Given the description of an element on the screen output the (x, y) to click on. 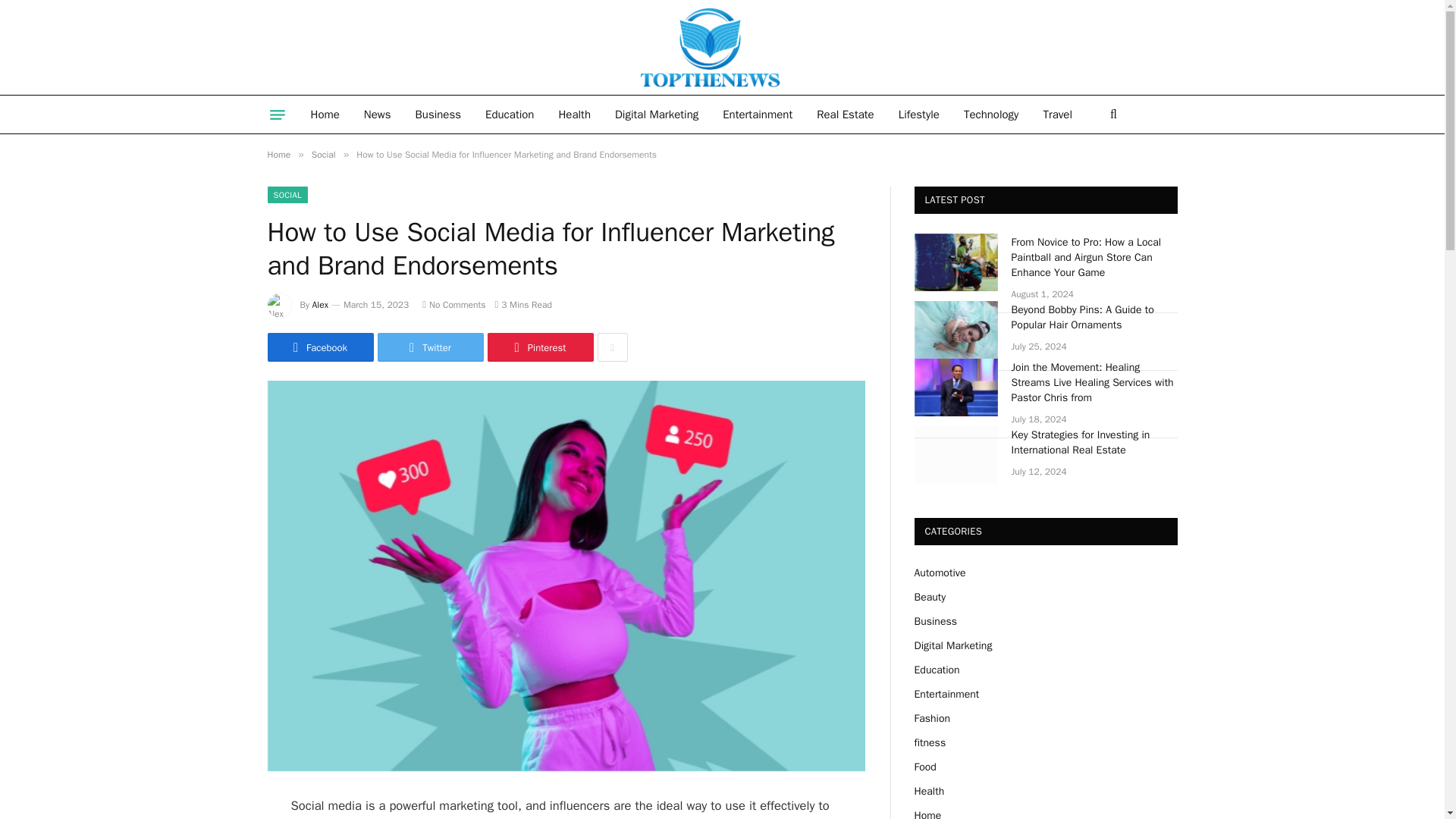
Technology (991, 114)
Travel (1057, 114)
Pinterest (539, 346)
TOPTHENEWS (633, 47)
No Comments (453, 304)
Home (325, 114)
Business (438, 114)
Home (277, 154)
Lifestyle (919, 114)
Twitter (430, 346)
SOCIAL (286, 194)
Real Estate (845, 114)
Digital Marketing (656, 114)
Share on Facebook (319, 346)
Show More Social Sharing (611, 346)
